Given the description of an element on the screen output the (x, y) to click on. 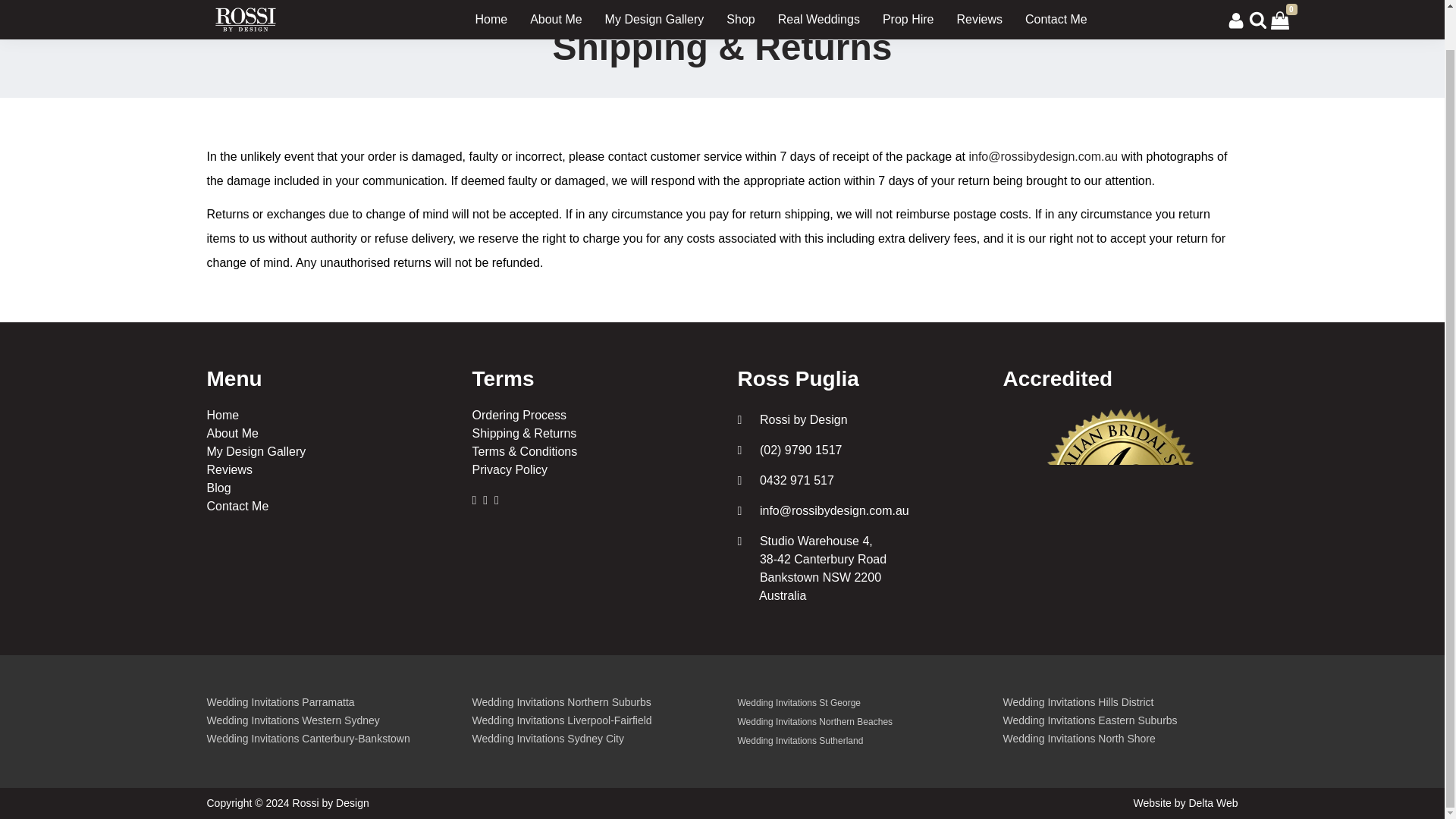
Delta Web (1212, 802)
Contact Me (236, 505)
About Me (231, 432)
Home (222, 414)
Blog (218, 487)
My Design Gallery (255, 451)
Ordering Process (518, 414)
